Given the description of an element on the screen output the (x, y) to click on. 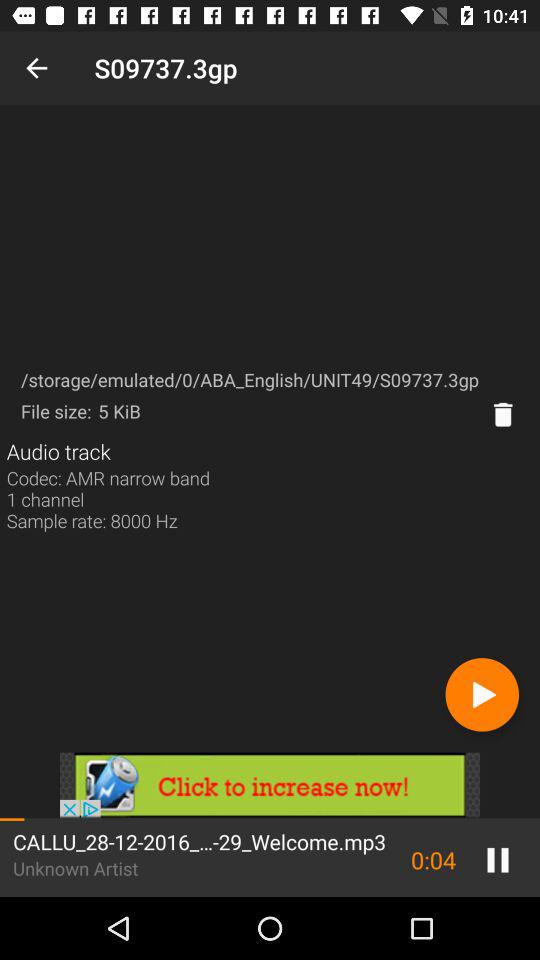
play option (482, 694)
